Given the description of an element on the screen output the (x, y) to click on. 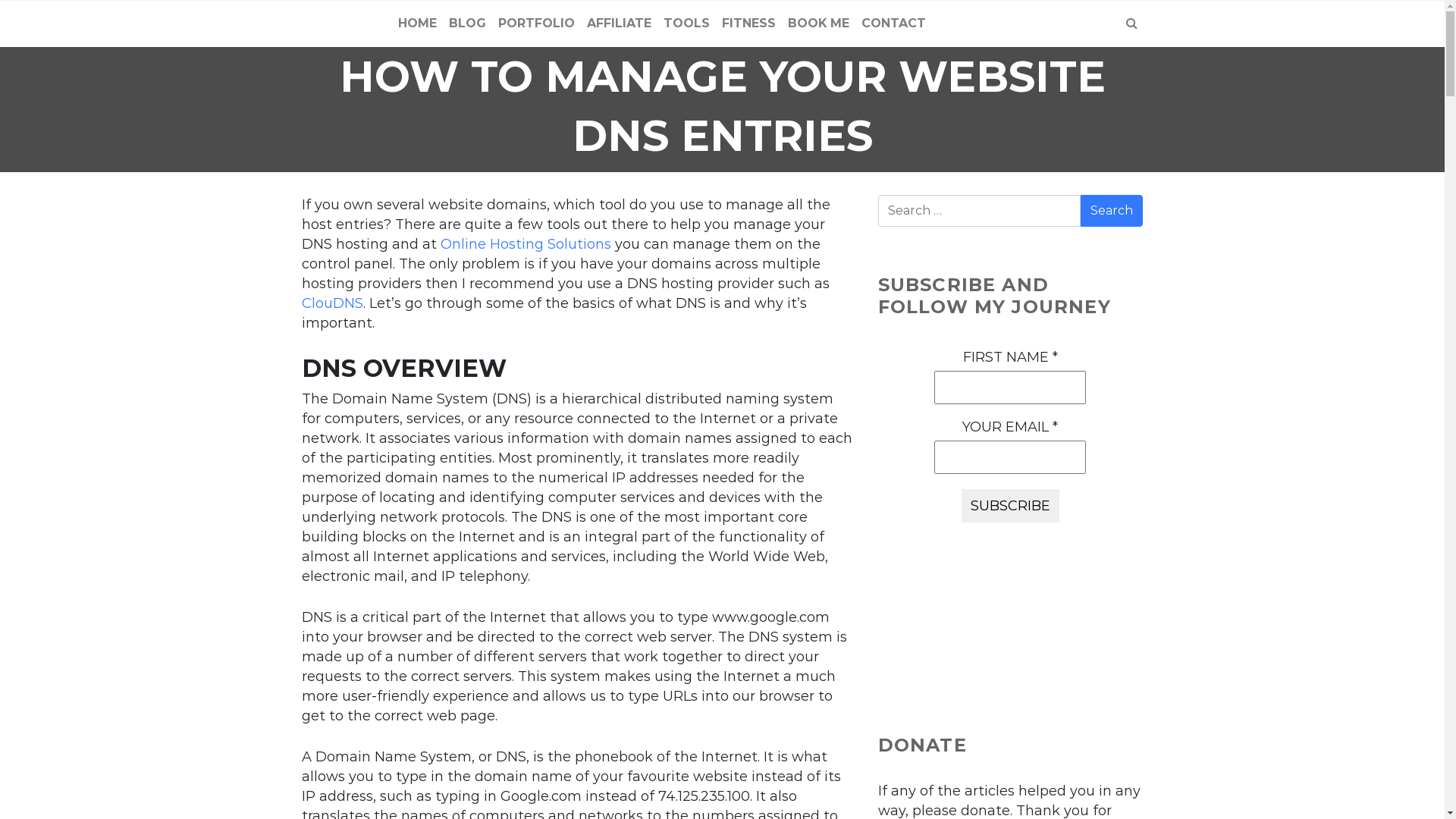
TOOLS Element type: text (686, 23)
BLOG Element type: text (467, 23)
CONTACT Element type: text (893, 23)
PORTFOLIO Element type: text (536, 23)
BOOK ME Element type: text (818, 23)
Search Element type: text (1111, 210)
SUBSCRIBE Element type: text (1010, 505)
AFFILIATE Element type: text (618, 23)
Online Hosting Solutions Element type: text (524, 243)
ClouDNS Element type: text (332, 302)
HOME Element type: text (417, 23)
The Simple Entrepreneur Element type: hover (332, 23)
YOUR EMAIL Element type: hover (1009, 456)
FITNESS Element type: text (748, 23)
FIRST NAME Element type: hover (1009, 387)
